Given the description of an element on the screen output the (x, y) to click on. 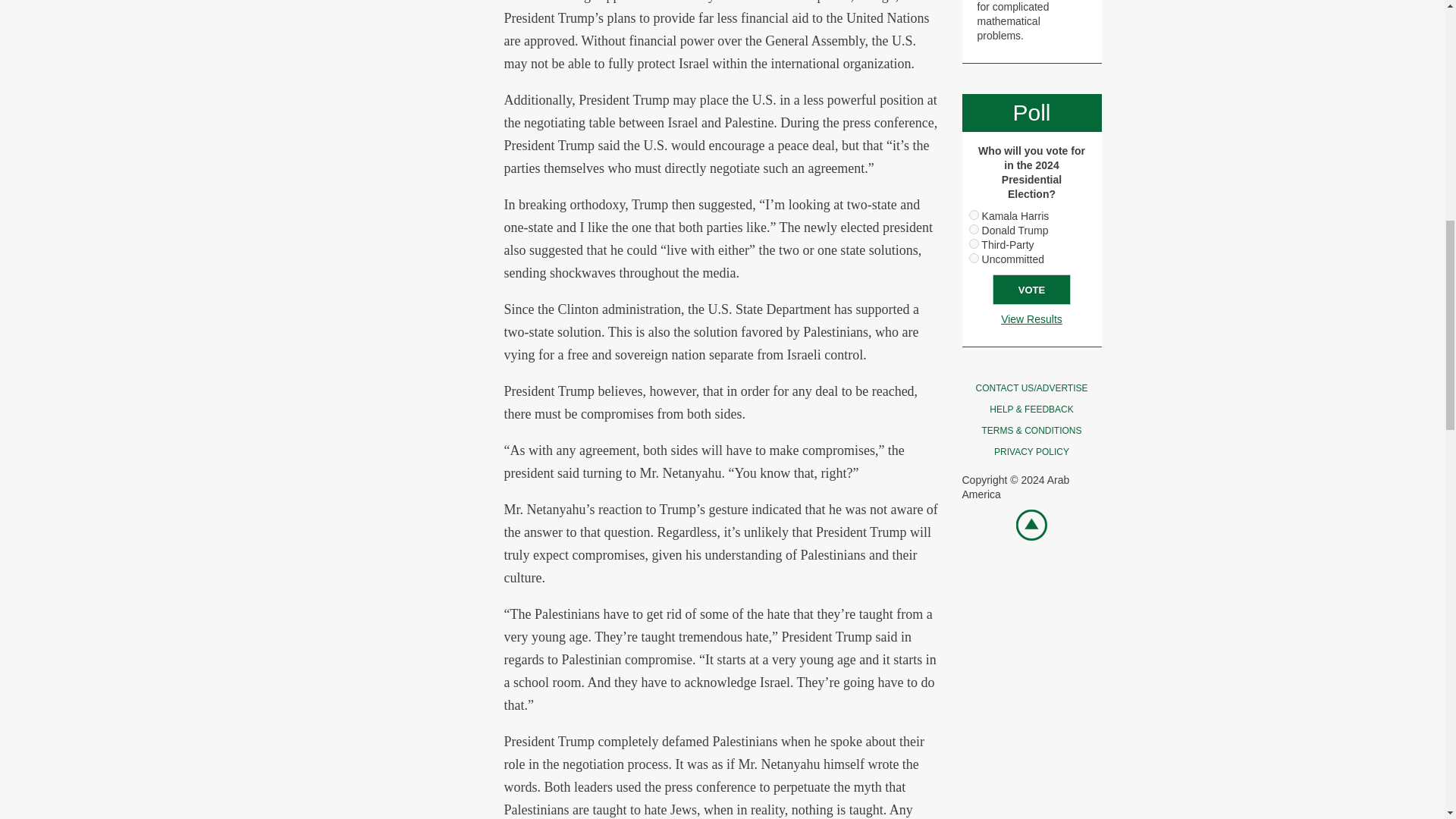
31 (973, 243)
30 (973, 229)
View Results Of This Poll (1031, 318)
   Vote    (1031, 289)
32 (973, 257)
29 (973, 214)
